Given the description of an element on the screen output the (x, y) to click on. 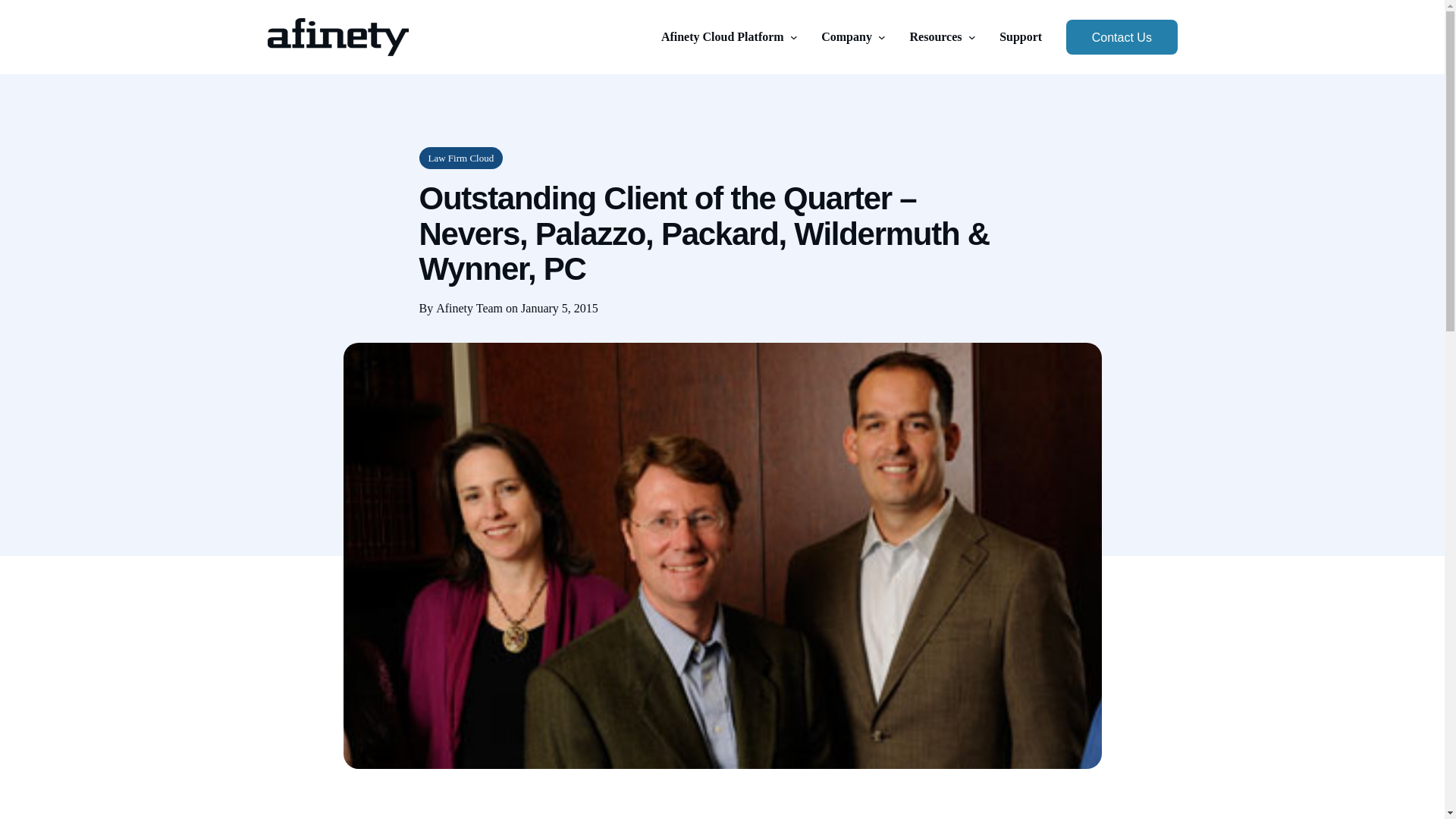
Afinety Cloud Platform (722, 36)
Law Firm Cloud (460, 158)
Resources (936, 36)
Contact Us (1120, 36)
Support (1020, 36)
Company (846, 36)
